Given the description of an element on the screen output the (x, y) to click on. 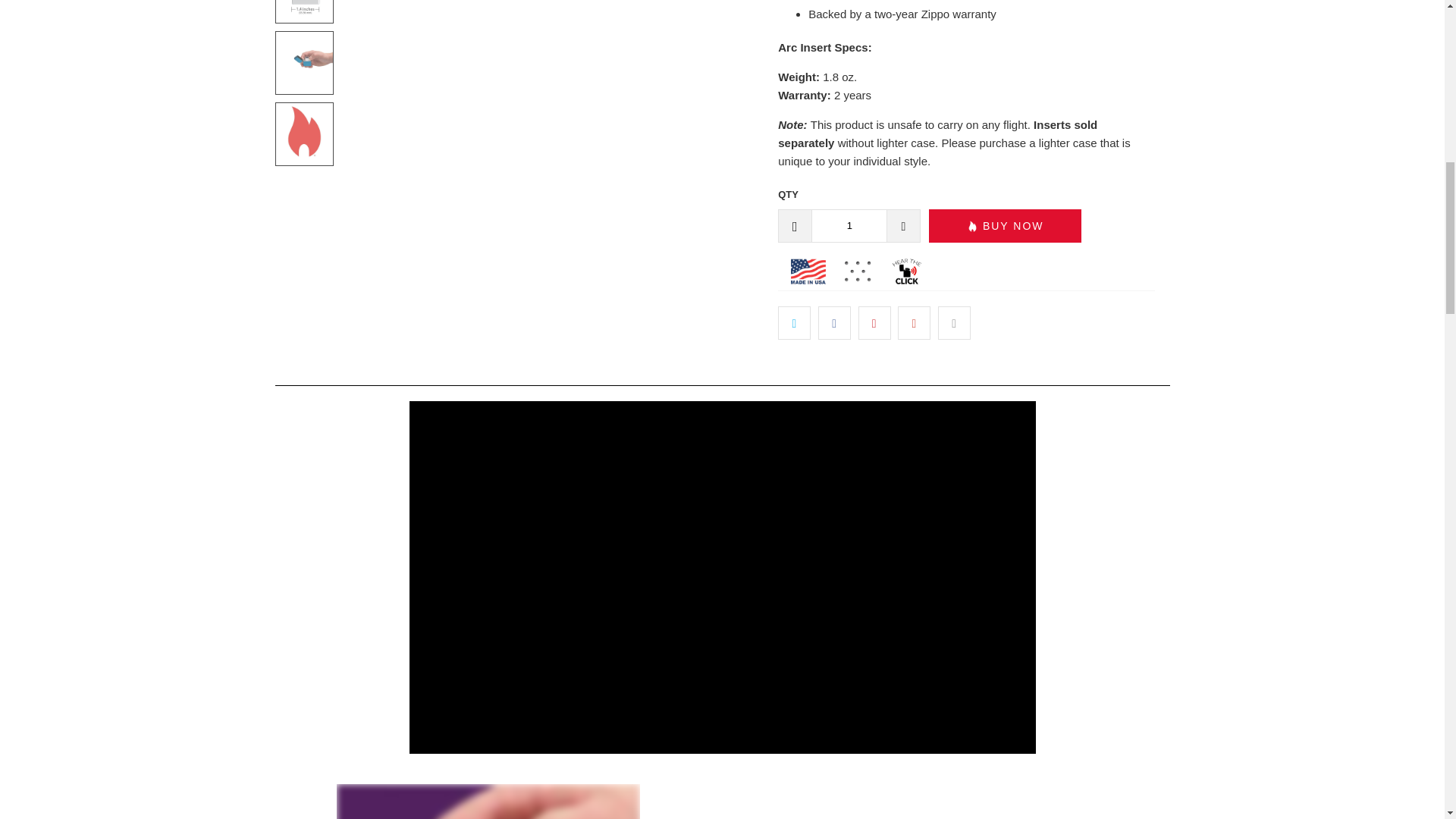
1 (848, 225)
